Given the description of an element on the screen output the (x, y) to click on. 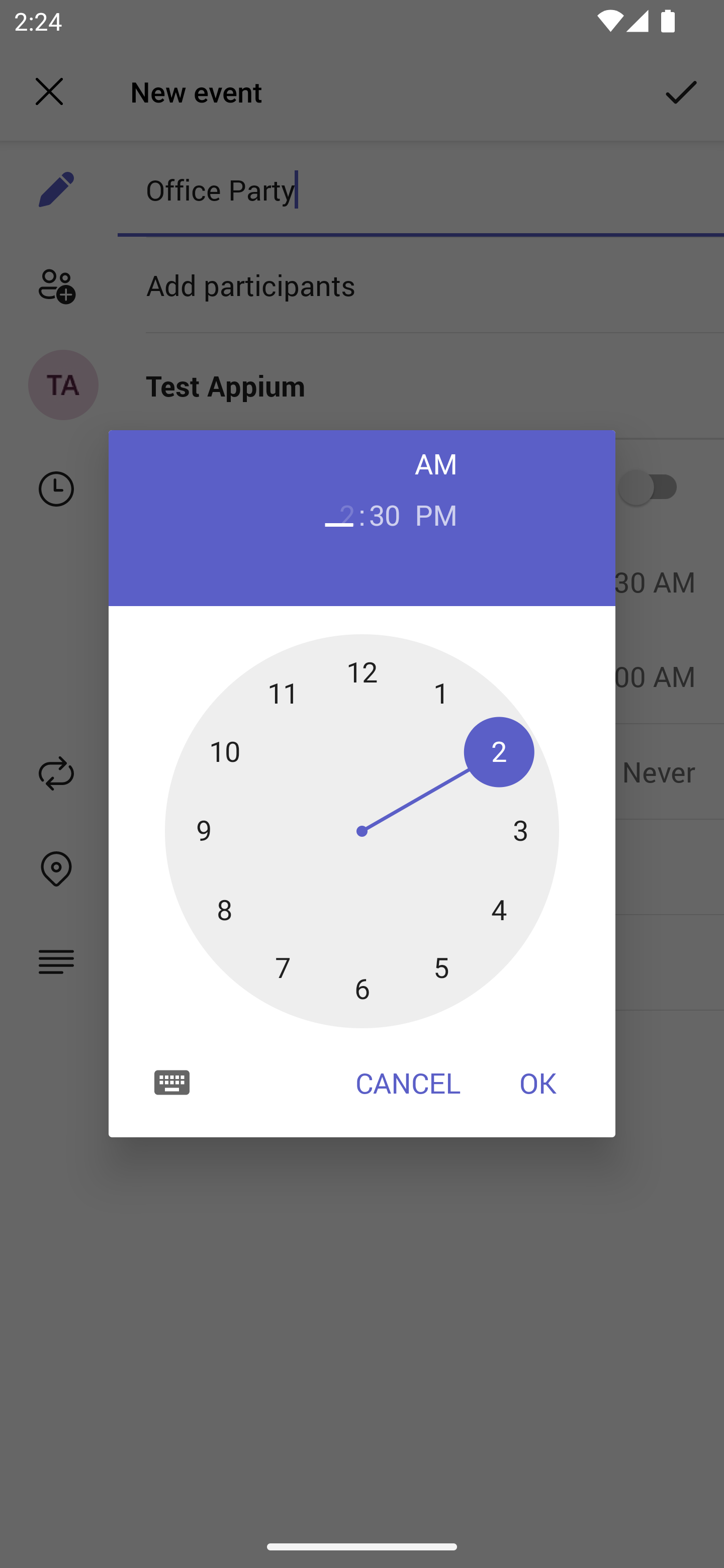
AM (435, 463)
PM (435, 514)
2 (338, 514)
30 (384, 514)
CANCEL (407, 1082)
OK (537, 1082)
Switch to text input mode for the time input. (171, 1081)
